Given the description of an element on the screen output the (x, y) to click on. 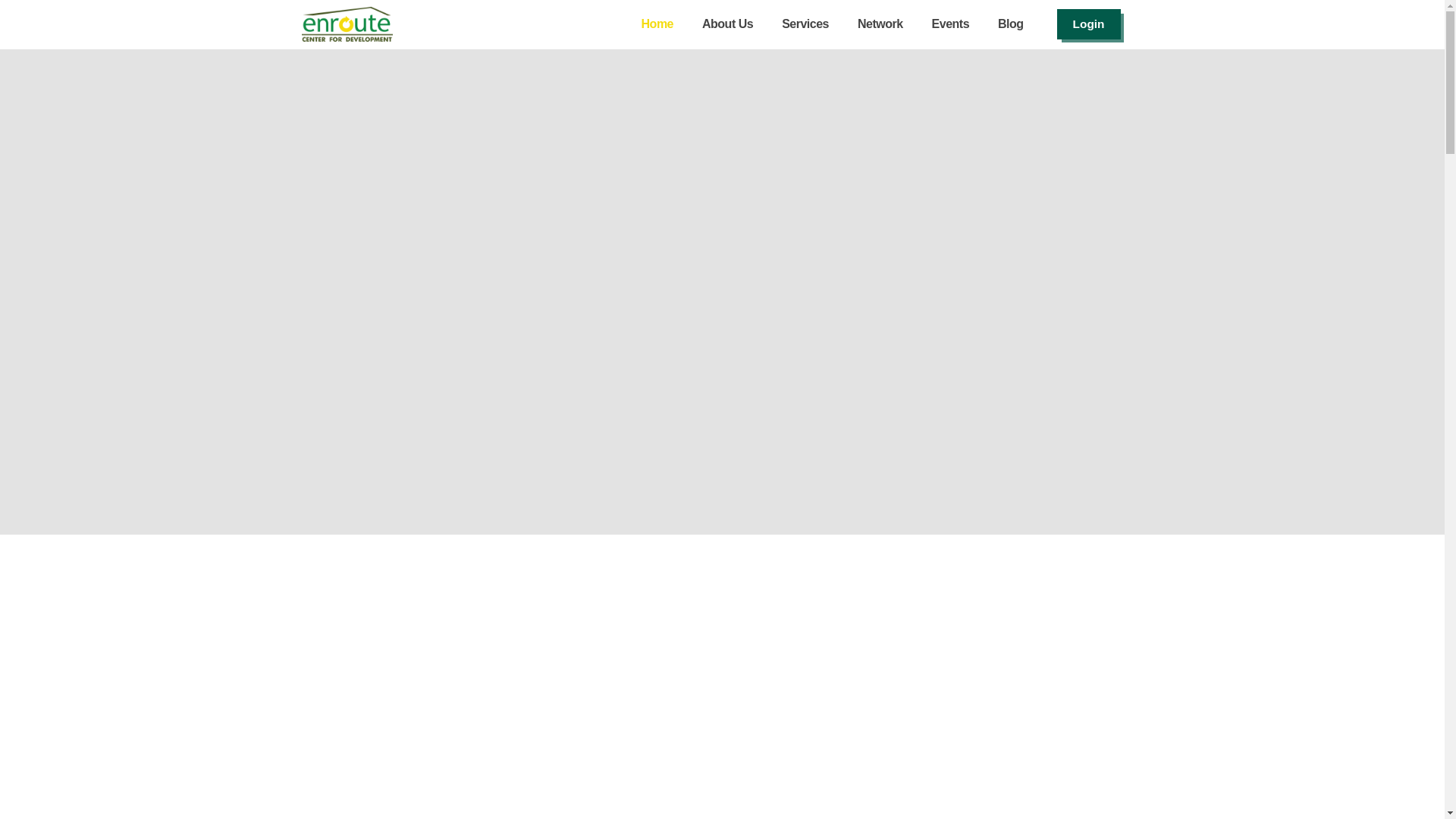
Blog Element type: text (1010, 24)
Login Element type: text (1088, 24)
Network Element type: text (880, 24)
Home Element type: text (657, 24)
Services Element type: text (805, 24)
Events Element type: text (950, 24)
About Us Element type: text (727, 24)
